Given the description of an element on the screen output the (x, y) to click on. 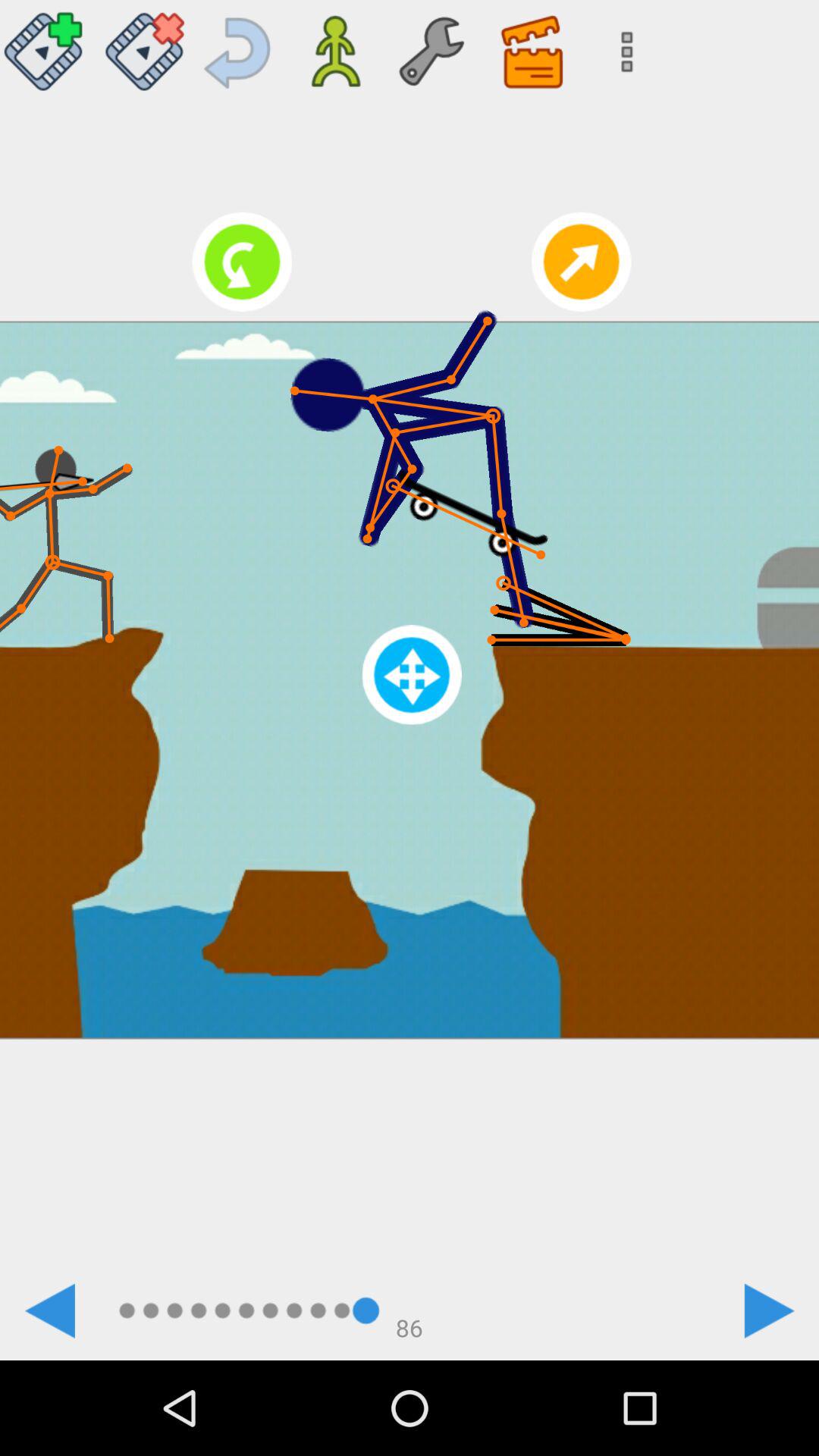
video (48, 45)
